Given the description of an element on the screen output the (x, y) to click on. 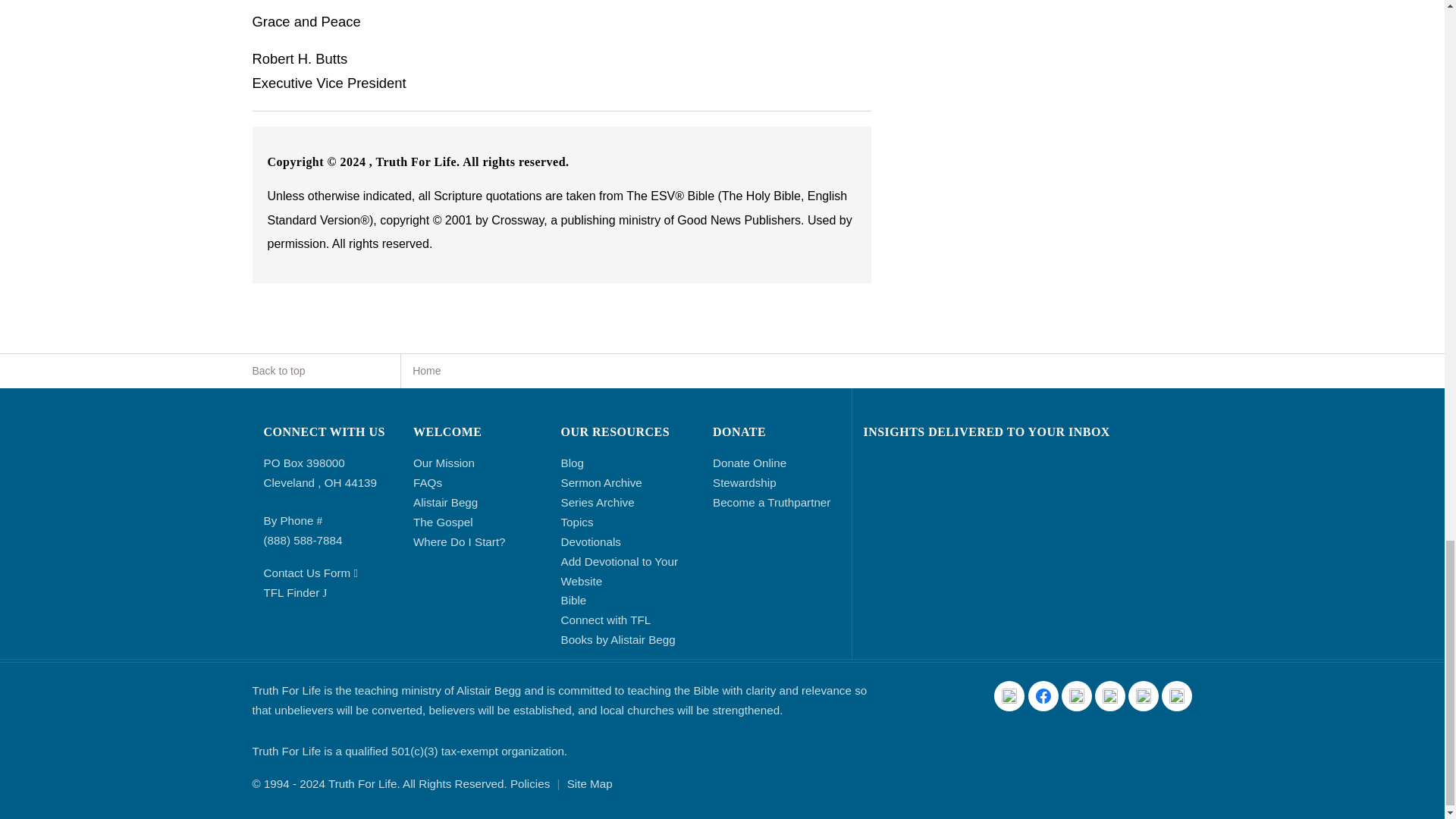
Instagram (1109, 695)
Facebook (1042, 695)
Twitter (1009, 695)
TikTok (1143, 695)
YouTube (1076, 695)
